Given the description of an element on the screen output the (x, y) to click on. 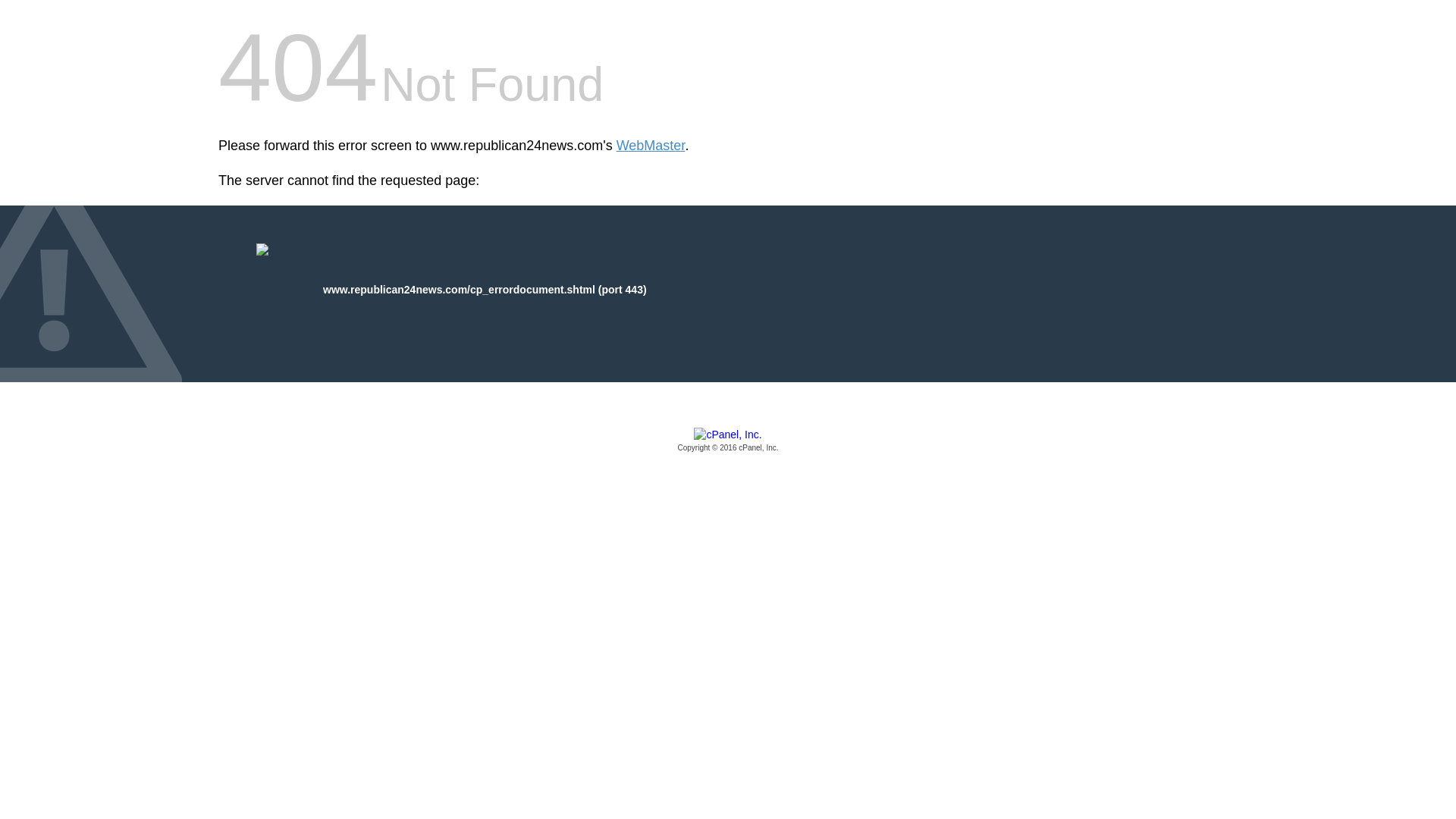
WebMaster (650, 145)
cPanel, Inc. (727, 440)
